Given the description of an element on the screen output the (x, y) to click on. 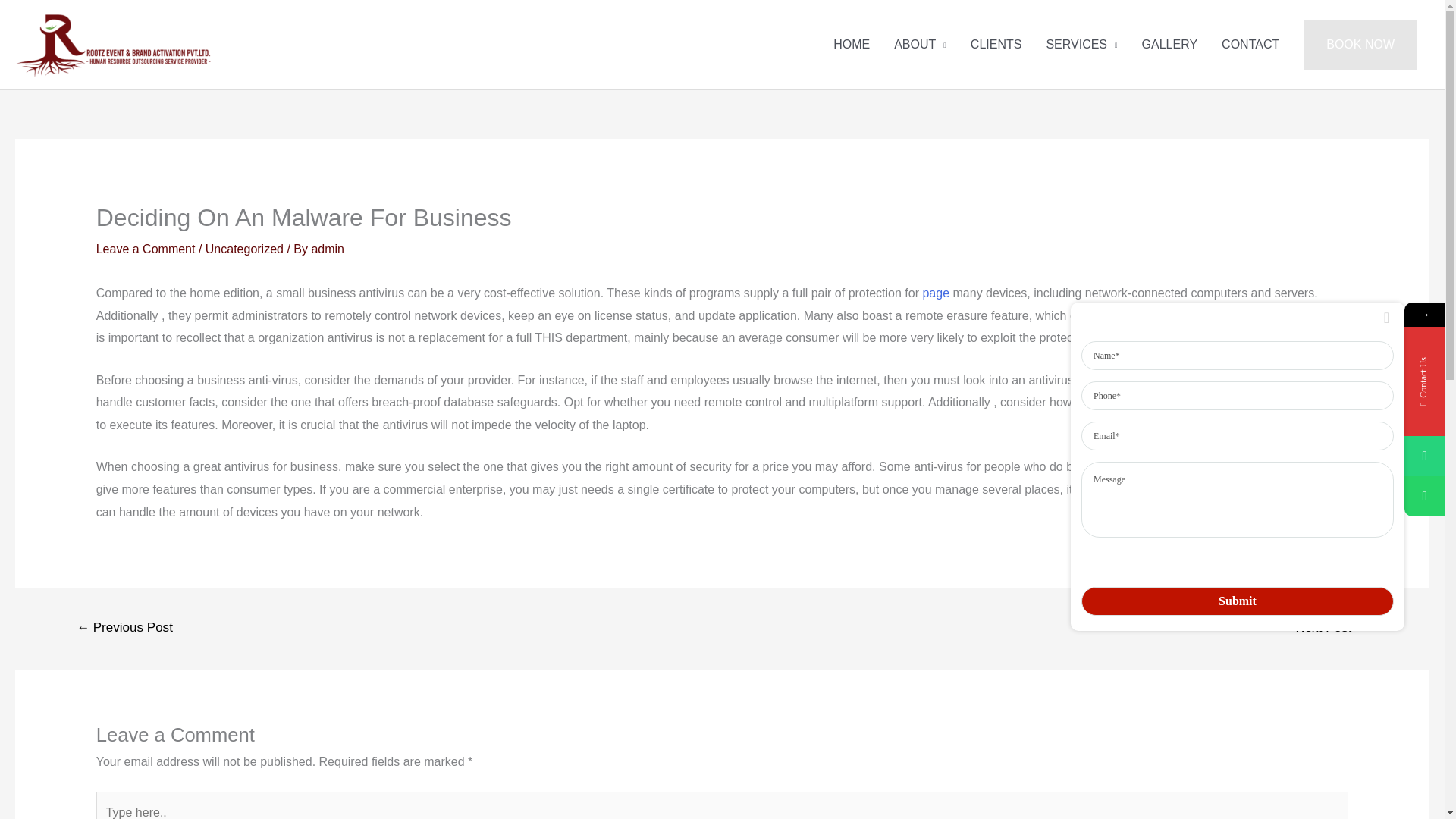
Uncategorized (244, 248)
View all posts by admin (327, 248)
Submit (1237, 601)
Leave a Comment (145, 248)
SERVICES (1081, 44)
page (935, 292)
BOOK NOW (1359, 44)
GALLERY (1169, 44)
CONTACT (1250, 44)
admin (327, 248)
